Given the description of an element on the screen output the (x, y) to click on. 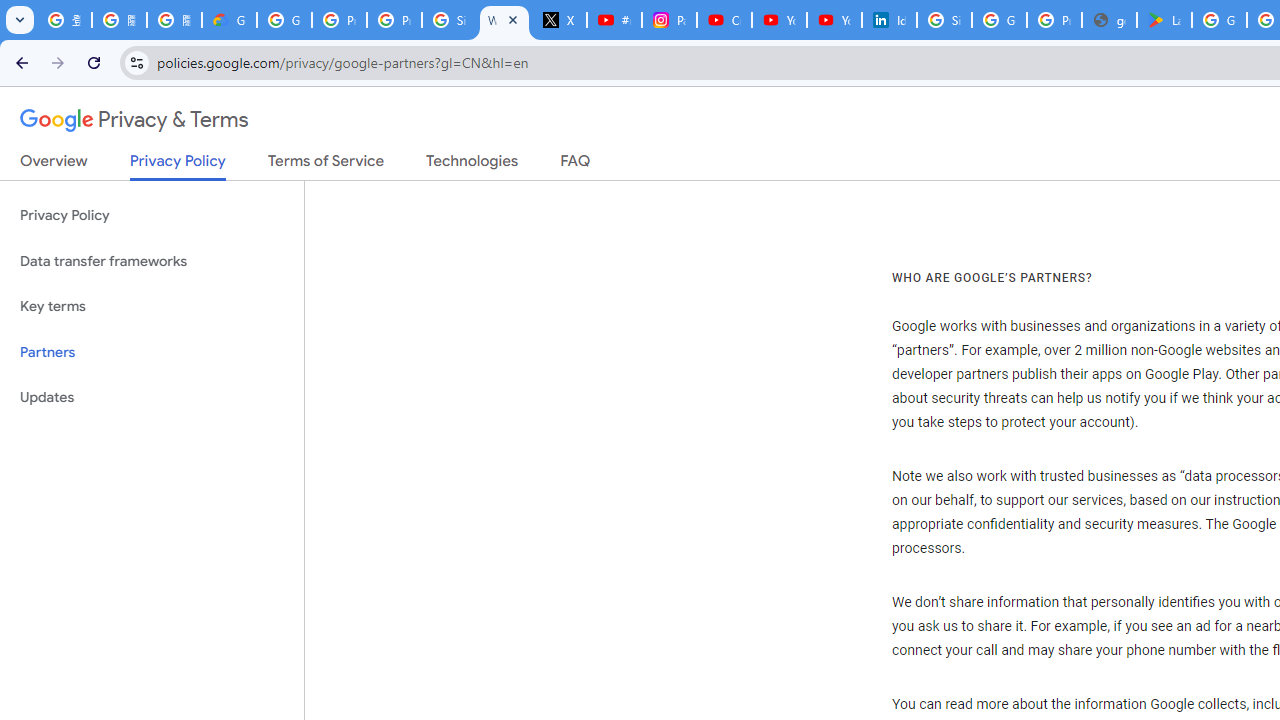
Last Shelter: Survival - Apps on Google Play (1163, 20)
X (559, 20)
YouTube Culture & Trends - YouTube Top 10, 2021 (833, 20)
